Given the description of an element on the screen output the (x, y) to click on. 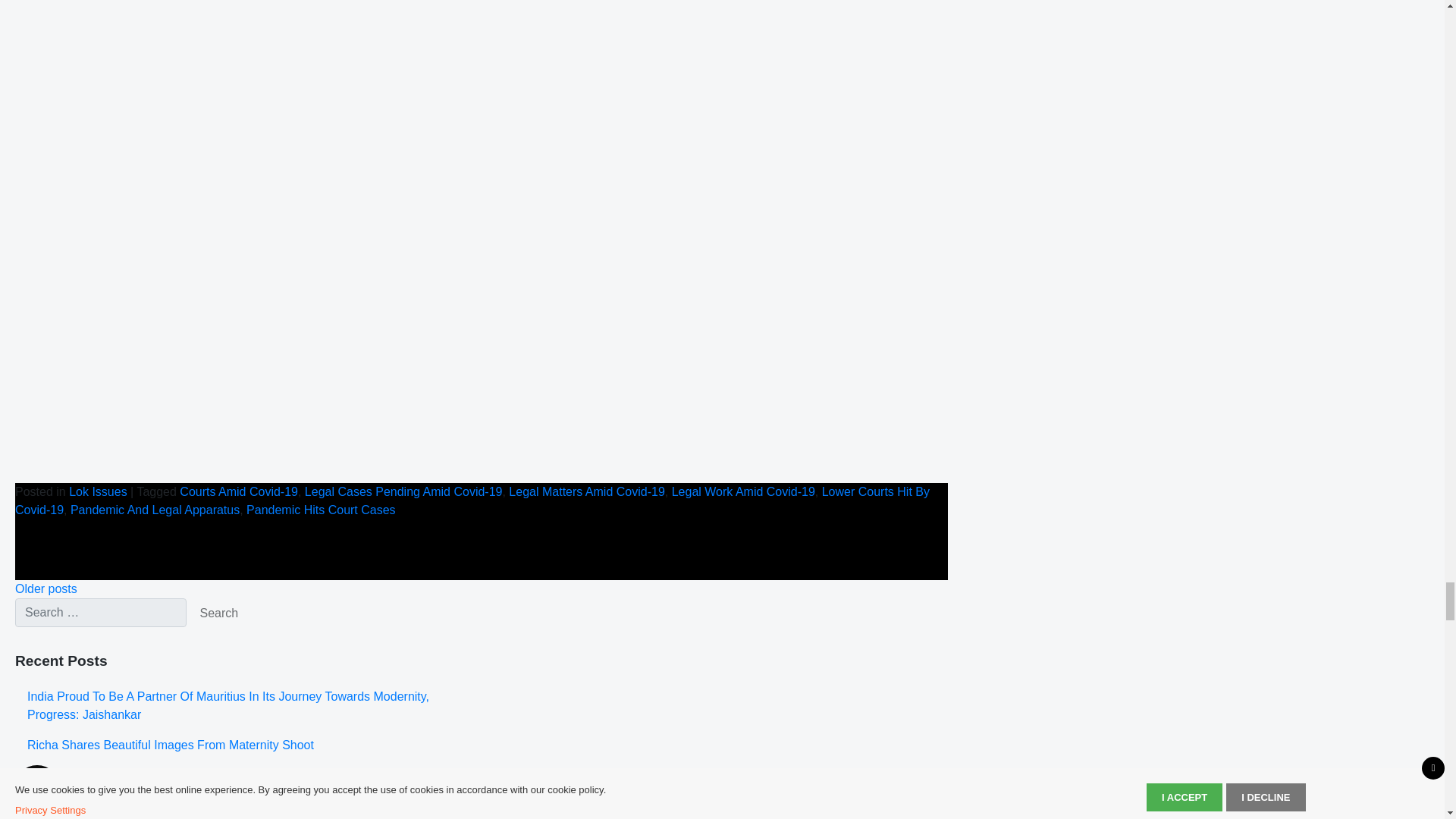
Search (218, 613)
Search (218, 613)
Search for: (100, 612)
